Given the description of an element on the screen output the (x, y) to click on. 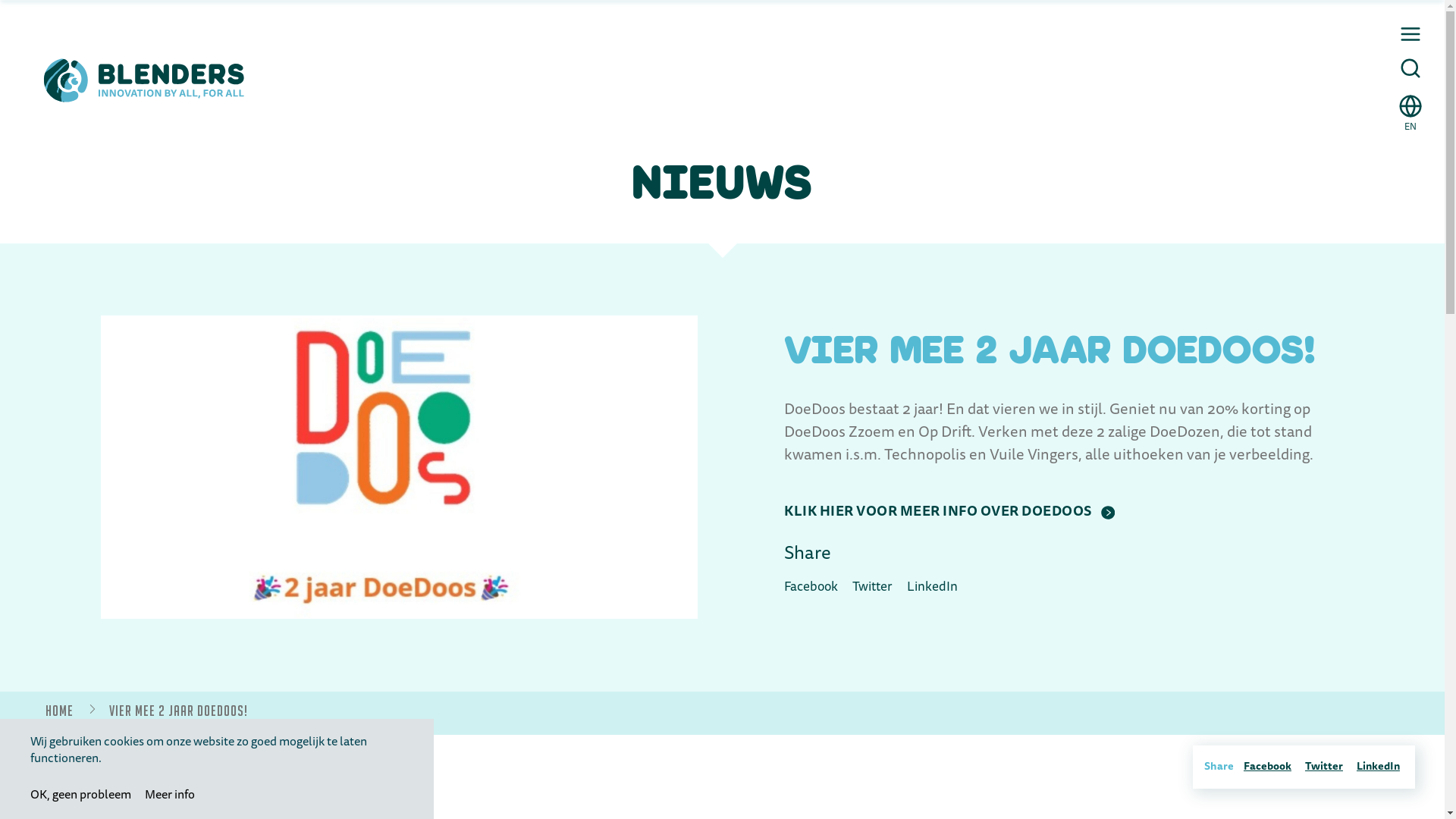
Volgende Element type: hover (82, 767)
Zoeken Element type: hover (1410, 67)
Home Element type: text (59, 710)
Meer info Element type: text (169, 795)
Twitter Element type: text (872, 588)
EN Element type: text (1410, 108)
Facebook Element type: text (810, 588)
OK, geen probleem Element type: text (80, 795)
Vorige Element type: hover (36, 767)
KLIK HIER VOOR MEER INFO OVER DOEDOOS Element type: text (949, 512)
Blenders Element type: hover (143, 80)
LinkedIn Element type: text (931, 588)
LinkedIn Element type: text (1377, 767)
Twitter Element type: text (1324, 767)
Navigatie openen Element type: hover (1410, 33)
Facebook Element type: text (1267, 767)
